Given the description of an element on the screen output the (x, y) to click on. 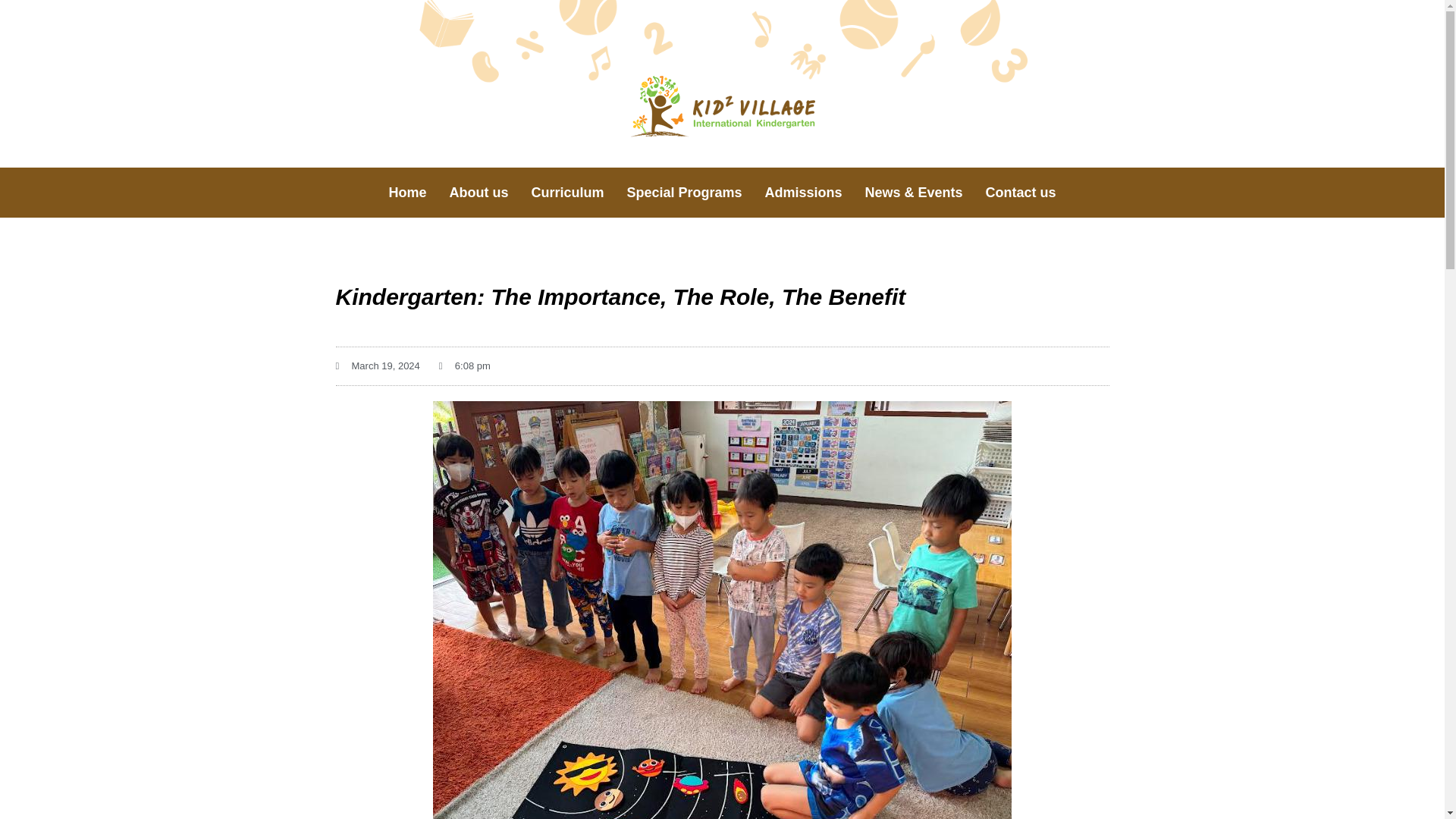
Home (407, 192)
Contact us (1020, 192)
Admissions (803, 192)
Special Programs (683, 192)
About us (478, 192)
Curriculum (566, 192)
